Given the description of an element on the screen output the (x, y) to click on. 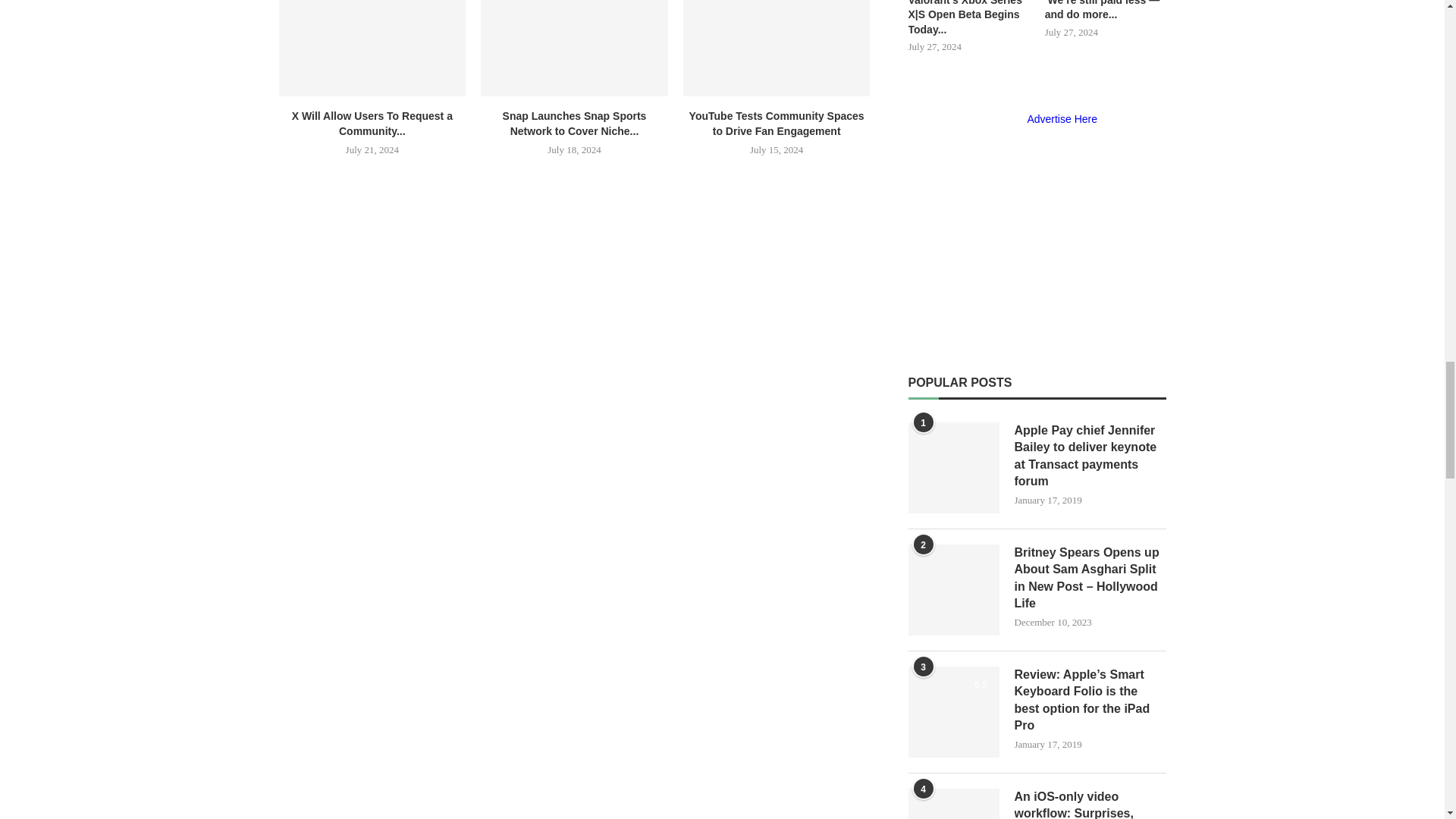
YouTube Tests Community Spaces to Drive Fan Engagement (776, 48)
Snap Launches Snap Sports Network to Cover Niche Events (574, 48)
X Will Allow Users To Request a Community Note on Posts (372, 48)
